Given the description of an element on the screen output the (x, y) to click on. 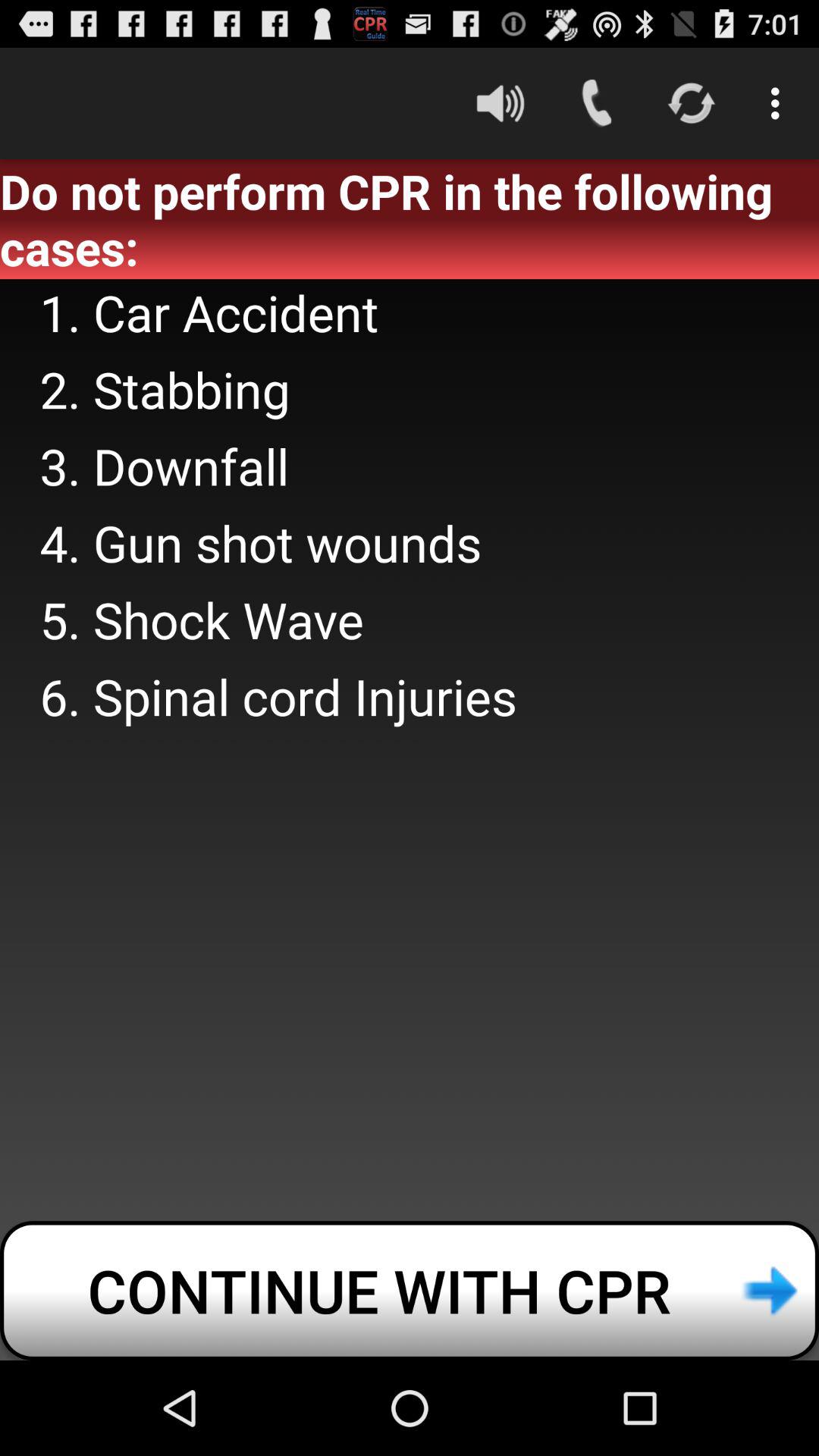
tap continue with cpr at the bottom (409, 1290)
